Given the description of an element on the screen output the (x, y) to click on. 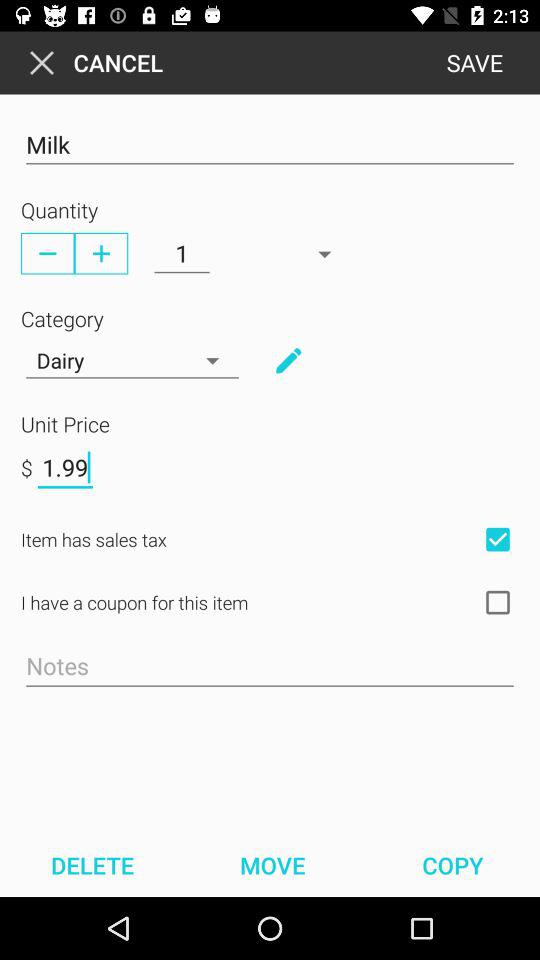
write notes (270, 667)
